Given the description of an element on the screen output the (x, y) to click on. 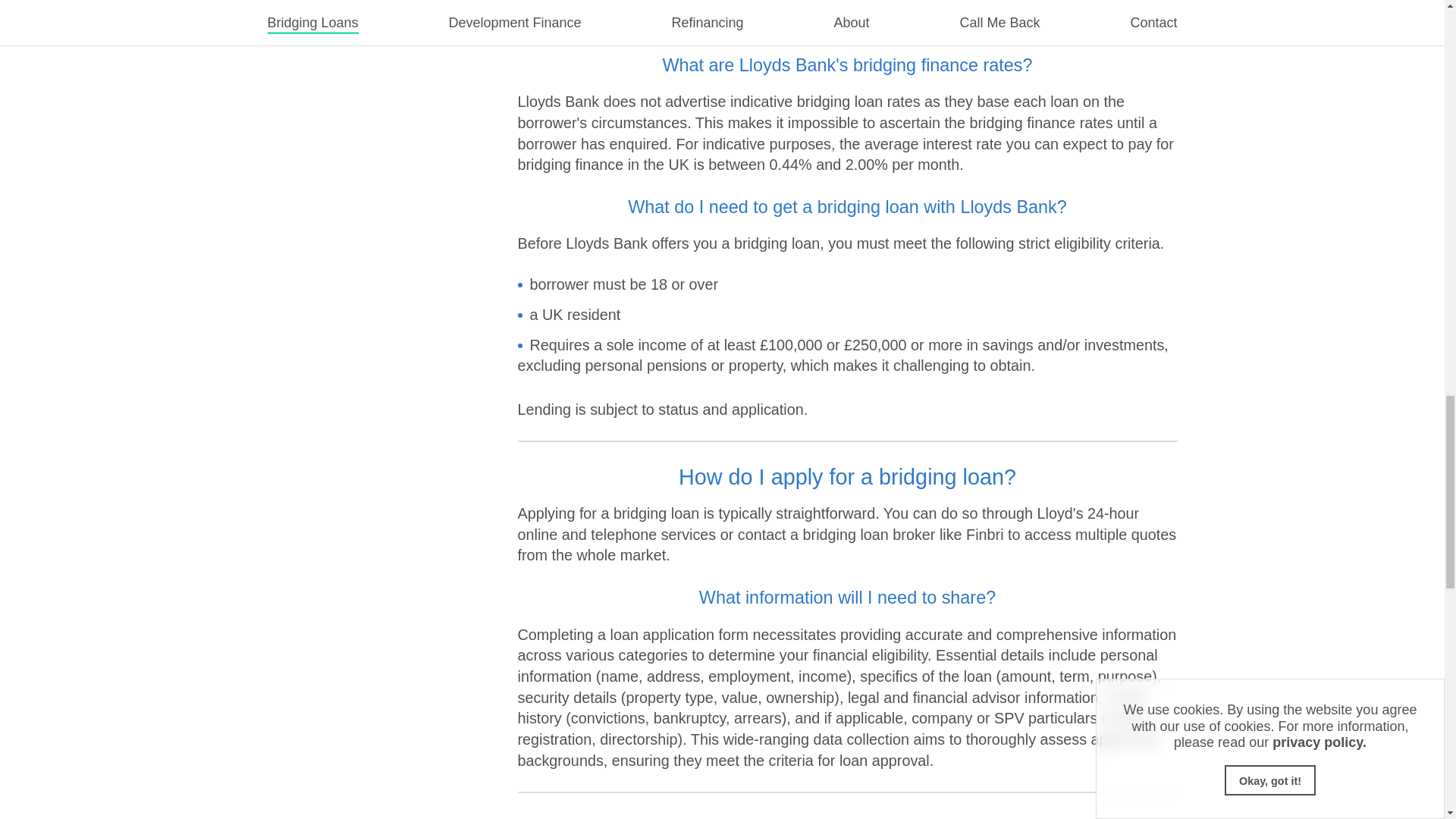
How do I apply for a bridging loan? (847, 439)
What are Lloyds Bank's bridging finance rates? (847, 38)
What information will I need to share? (846, 560)
Final thoughts (846, 780)
What do I need to get a bridging loan with Lloyds Bank? (847, 169)
